Given the description of an element on the screen output the (x, y) to click on. 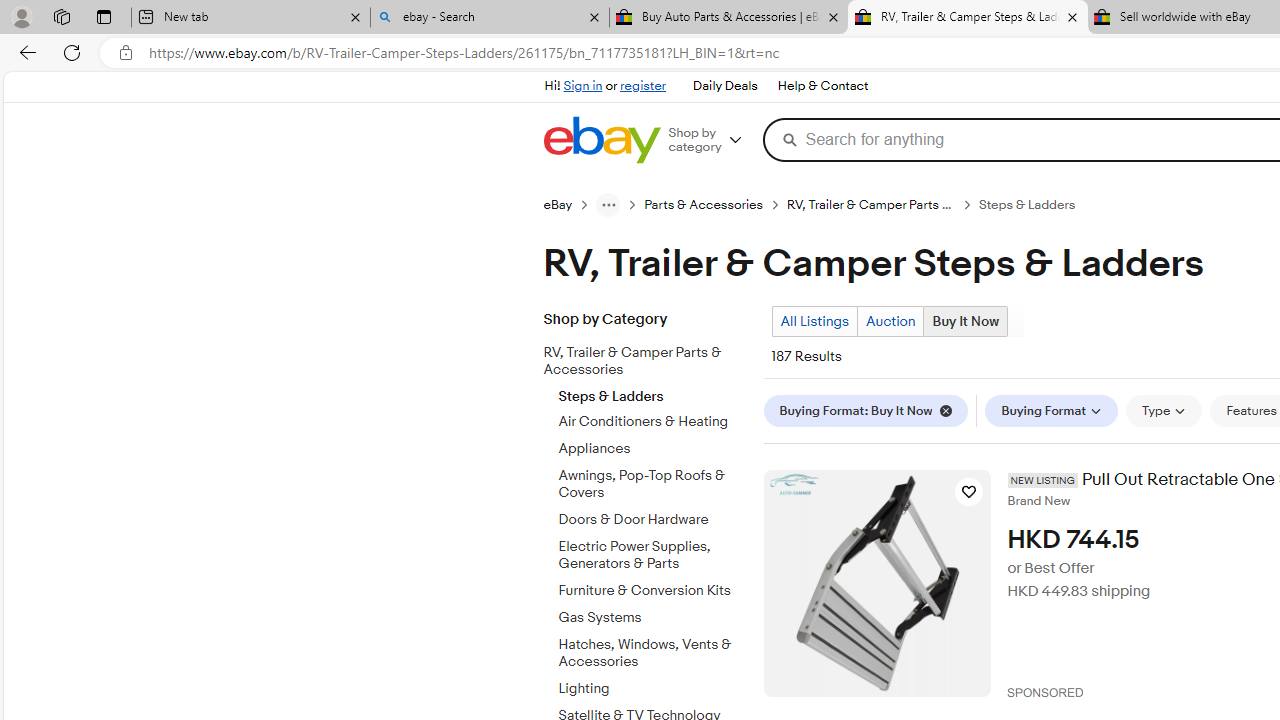
Buying Format (1051, 410)
Buying Format: Buy It Now- Remove Filter (869, 410)
Hatches, Windows, Vents & Accessories (653, 653)
eBay Home (601, 139)
Parts & Accessories (715, 204)
Gas Systems (653, 618)
Gas Systems (653, 614)
Hatches, Windows, Vents & Accessories (653, 649)
register (642, 85)
Auction (890, 321)
Lighting (653, 689)
Appliances (653, 445)
Awnings, Pop-Top Roofs & Covers (653, 481)
